Given the description of an element on the screen output the (x, y) to click on. 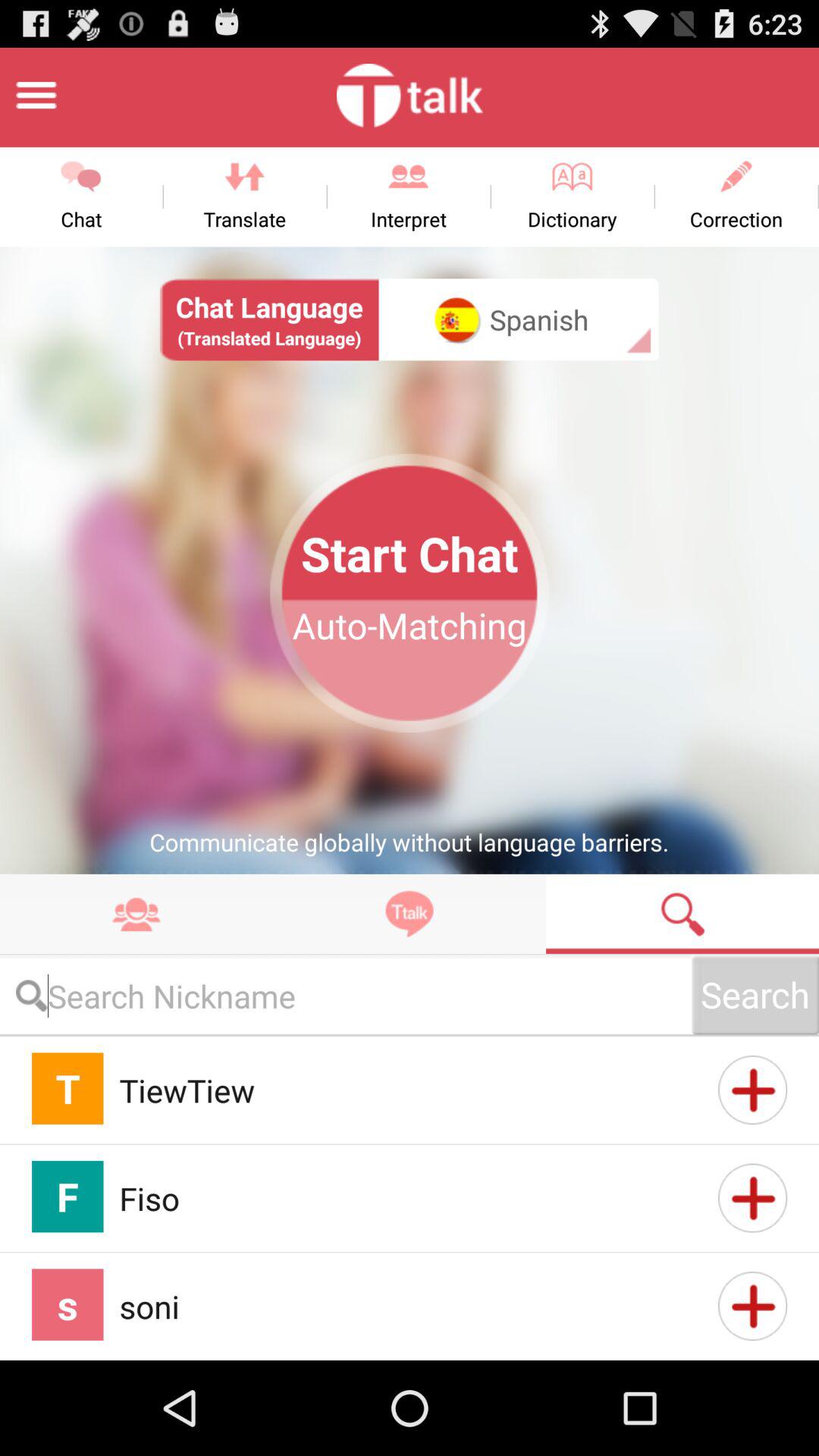
add item (752, 1197)
